Given the description of an element on the screen output the (x, y) to click on. 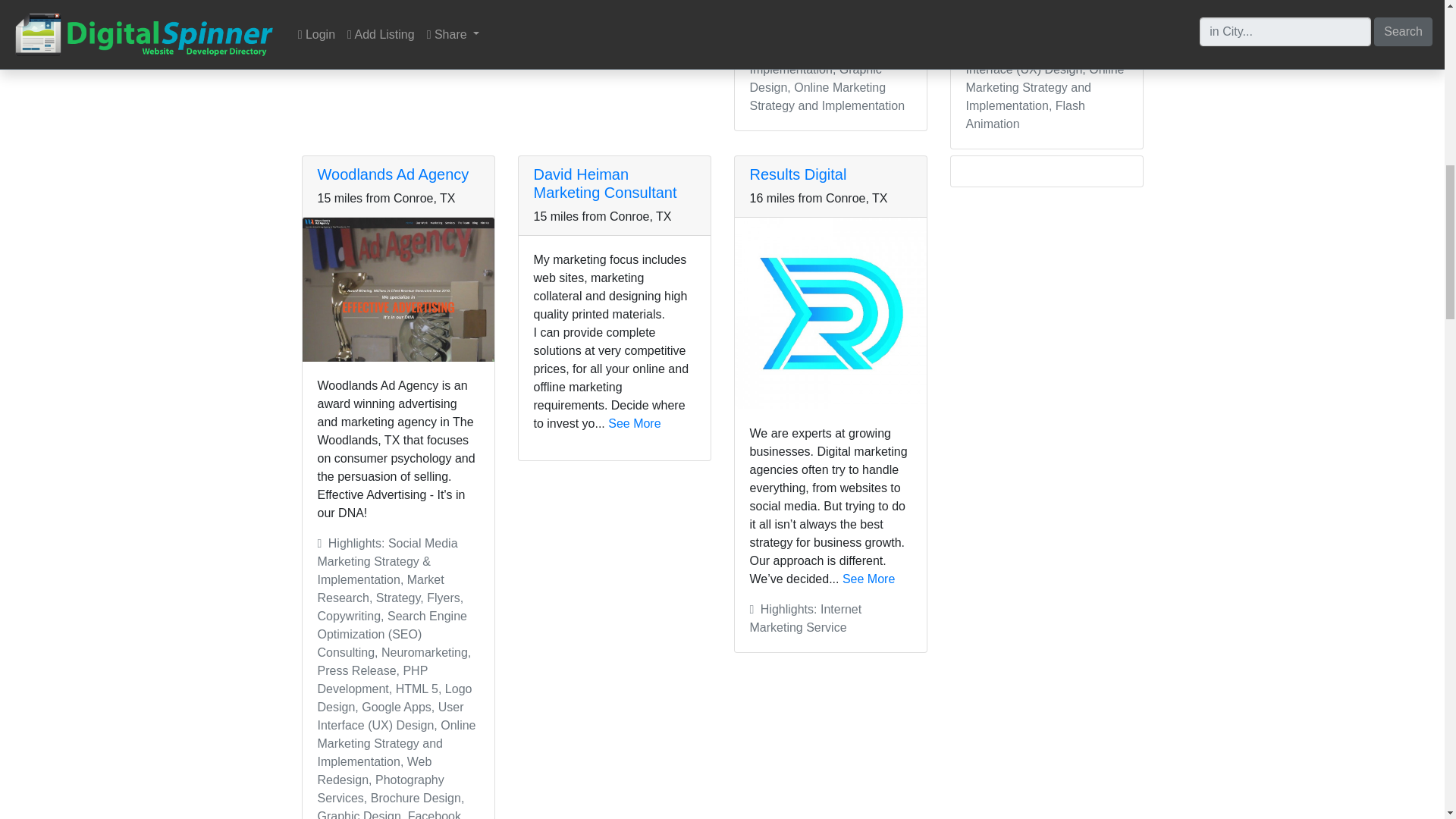
See More (634, 422)
Woodlands Ad Agency (392, 174)
See More (869, 578)
David Heiman Marketing Consultant (605, 183)
Results Digital (797, 174)
